Given the description of an element on the screen output the (x, y) to click on. 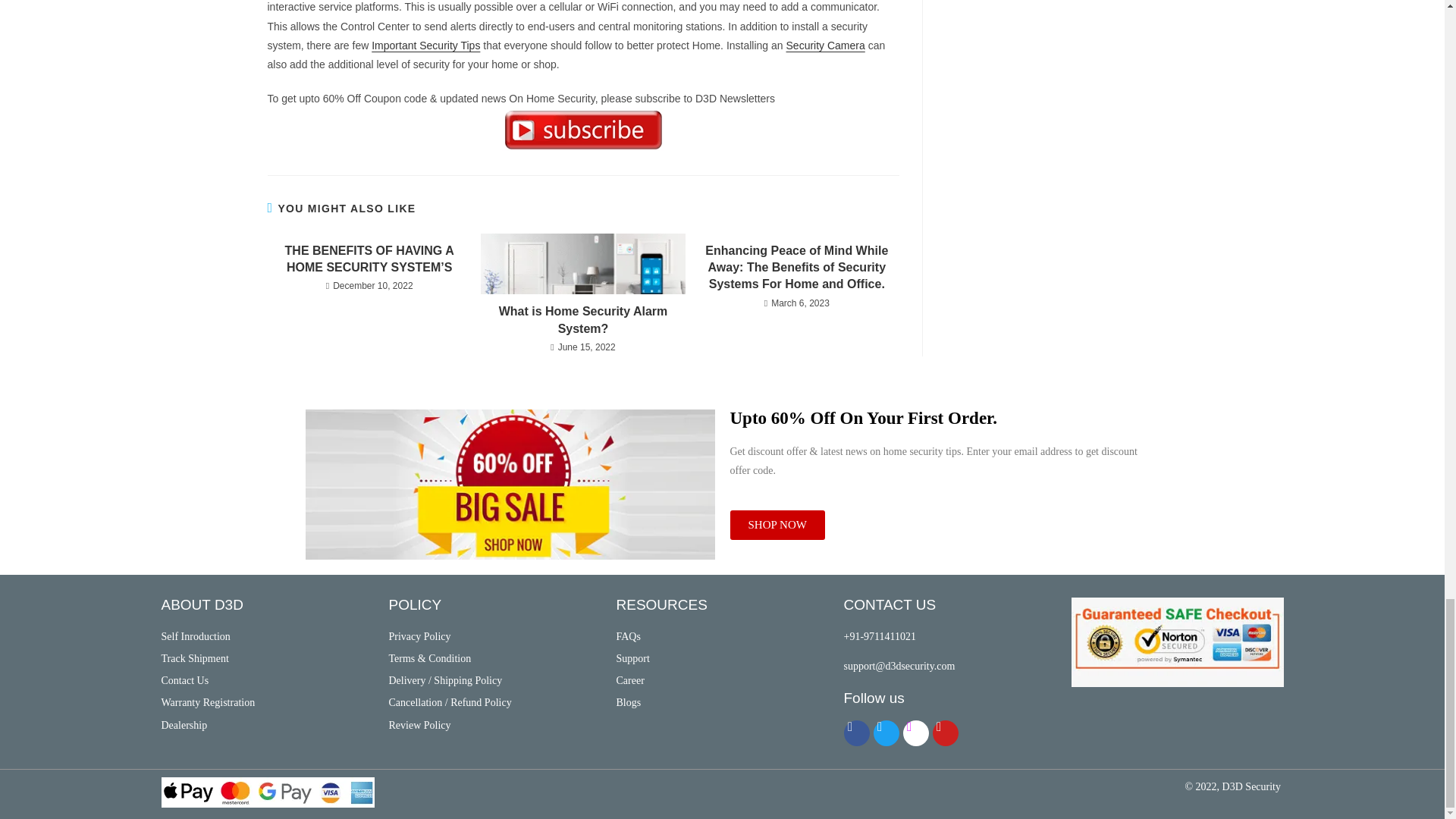
Subscribe (582, 130)
Important Security Tips (425, 45)
Home Security Camera (825, 45)
Safety Tips For Home Security (425, 45)
What is Home Security Alarm System? (582, 320)
SHOP NOW (776, 524)
Security Camera (825, 45)
